Given the description of an element on the screen output the (x, y) to click on. 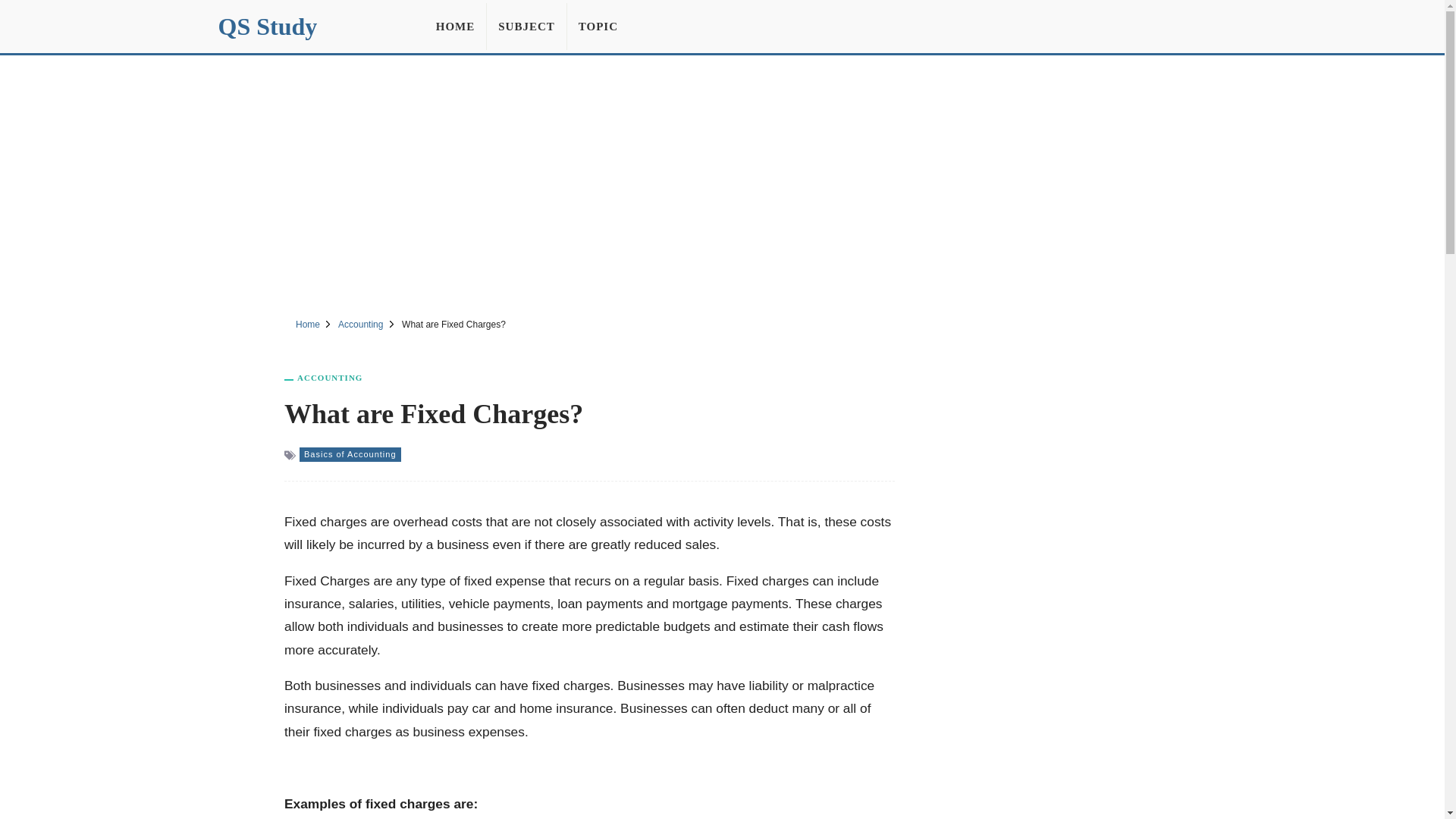
Accounting (329, 377)
ACCOUNTING (329, 377)
Basics of Accounting (350, 454)
SUBJECT (526, 26)
Basics of Accounting (350, 454)
Accounting (359, 324)
HOME (455, 26)
Subject (526, 26)
Home (307, 324)
Topic (597, 26)
TOPIC (597, 26)
QS Study (267, 25)
